Given the description of an element on the screen output the (x, y) to click on. 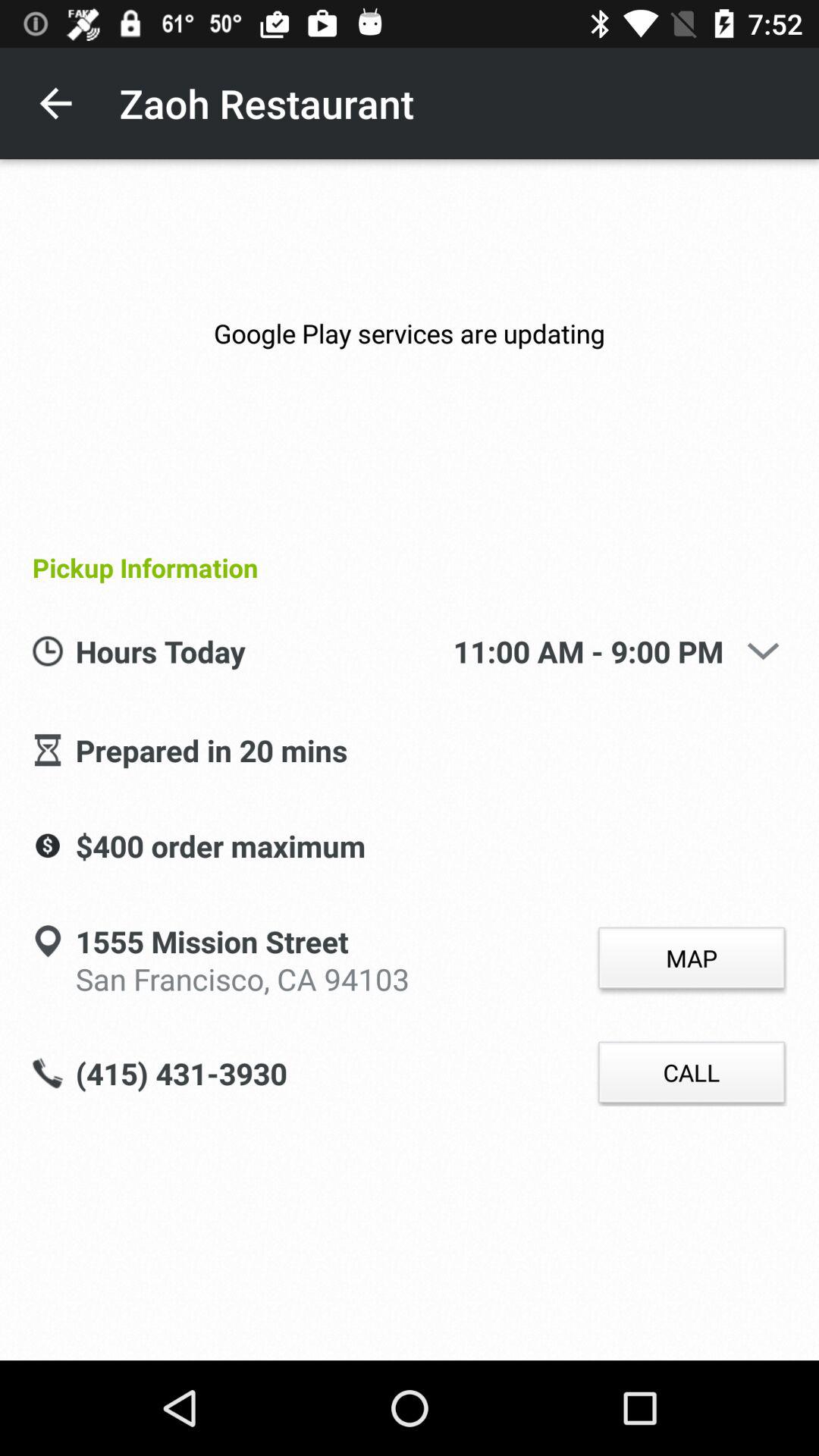
tap the icon below the prepared in 20 (220, 847)
